Given the description of an element on the screen output the (x, y) to click on. 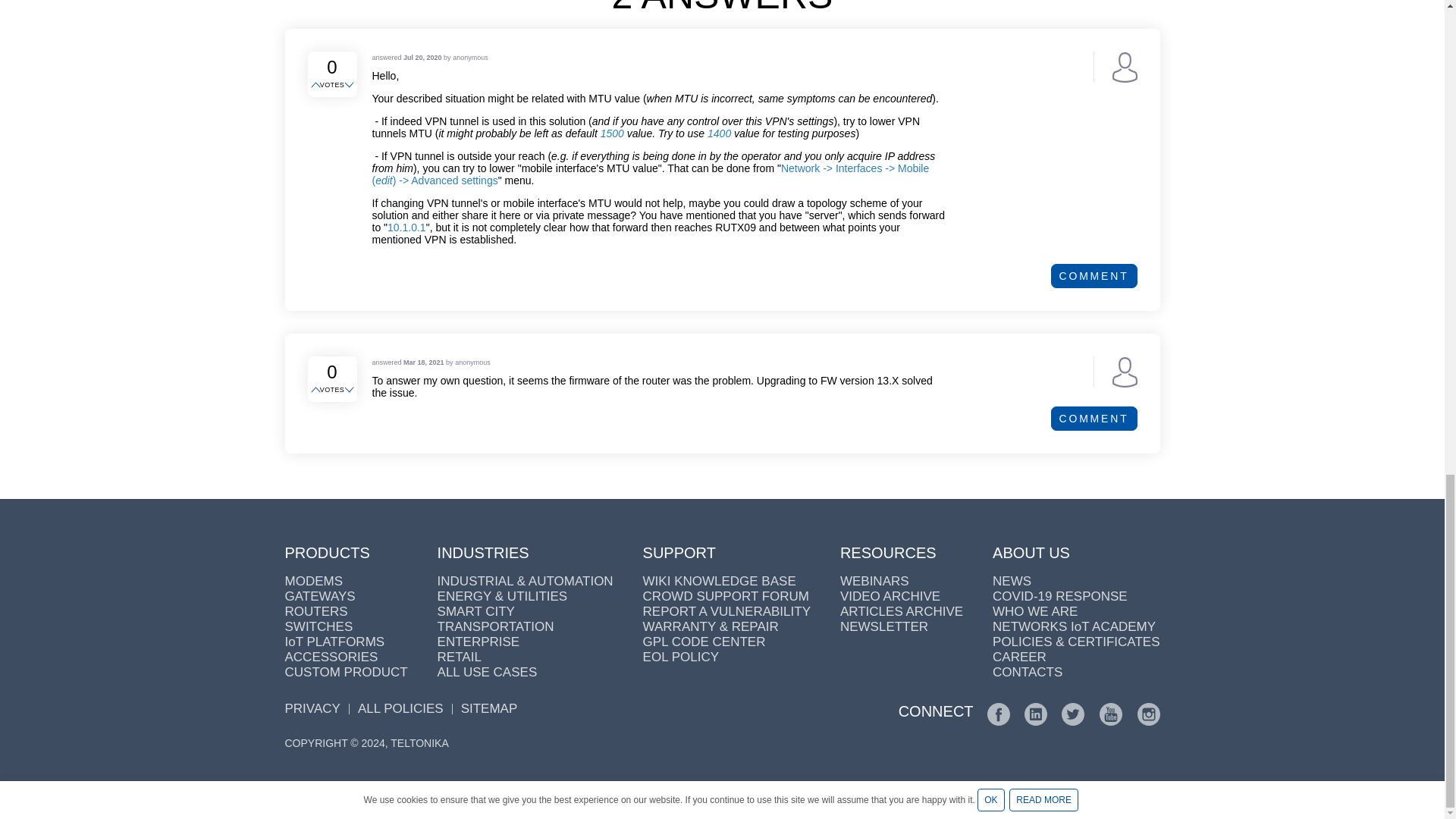
Click to vote up (317, 85)
Add a comment on this answer (1094, 418)
Add a comment on this answer (1094, 275)
Click to vote down (349, 389)
comment (1094, 418)
Click to vote up (317, 389)
Click to vote down (349, 85)
comment (1094, 275)
